Given the description of an element on the screen output the (x, y) to click on. 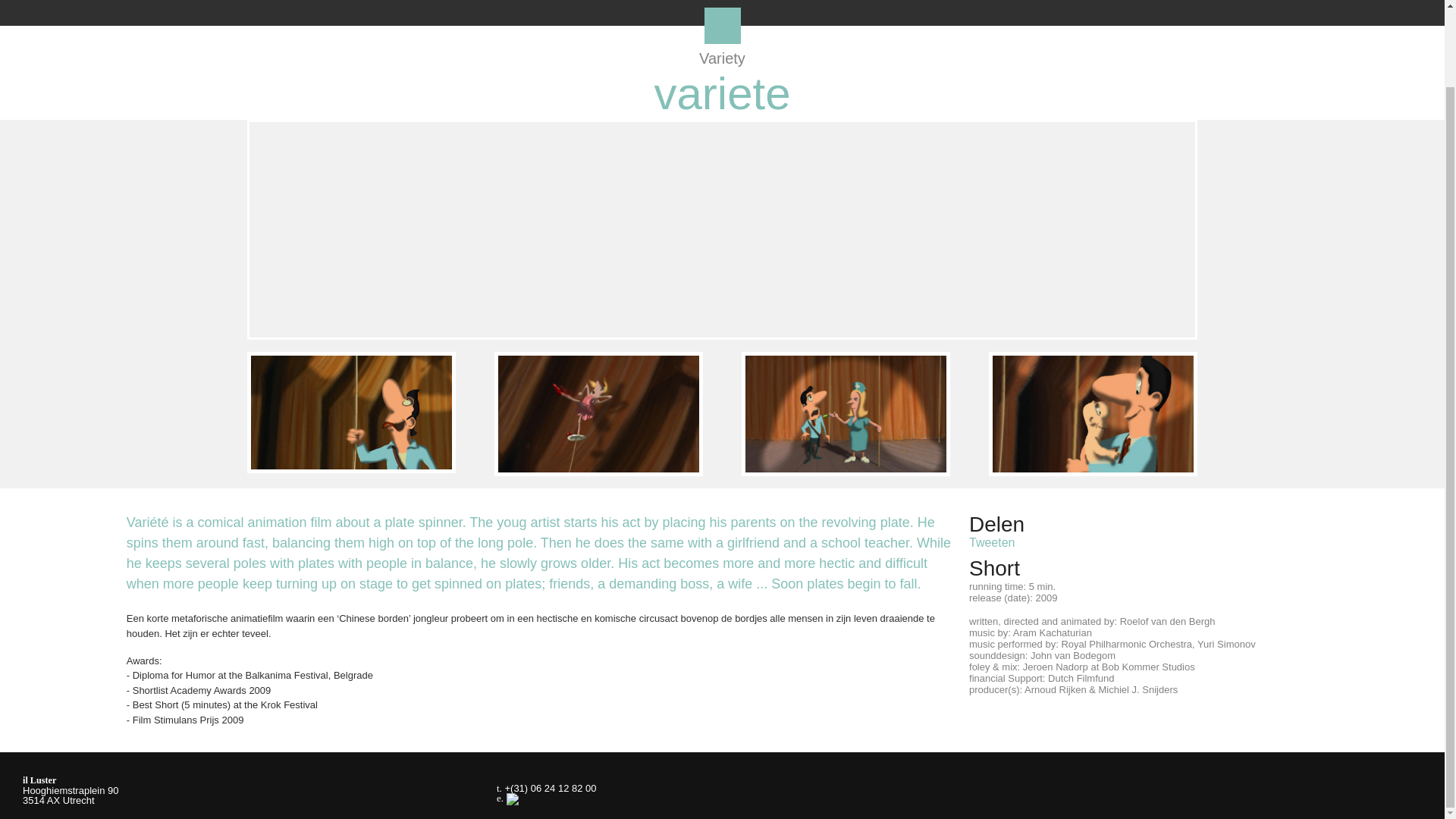
Paultje en de Draak (1323, 233)
Bricks (121, 233)
Instagram (1369, 793)
Youtube (1336, 793)
Vimeo (1303, 793)
Volg ons op Instagram (1369, 793)
X (721, 25)
Tweeten (991, 542)
Instagram (1403, 793)
